Given the description of an element on the screen output the (x, y) to click on. 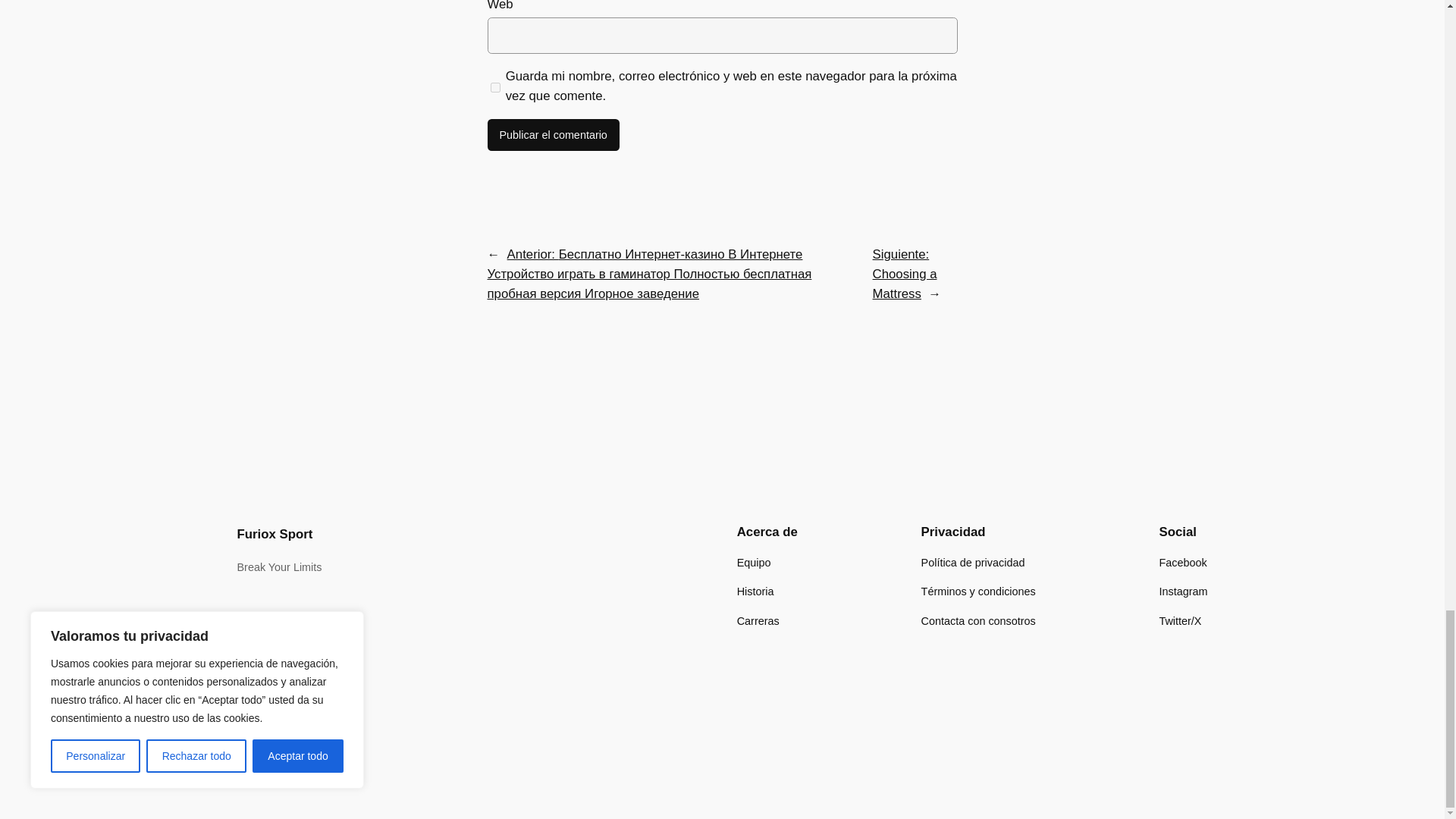
Publicar el comentario (552, 134)
